Given the description of an element on the screen output the (x, y) to click on. 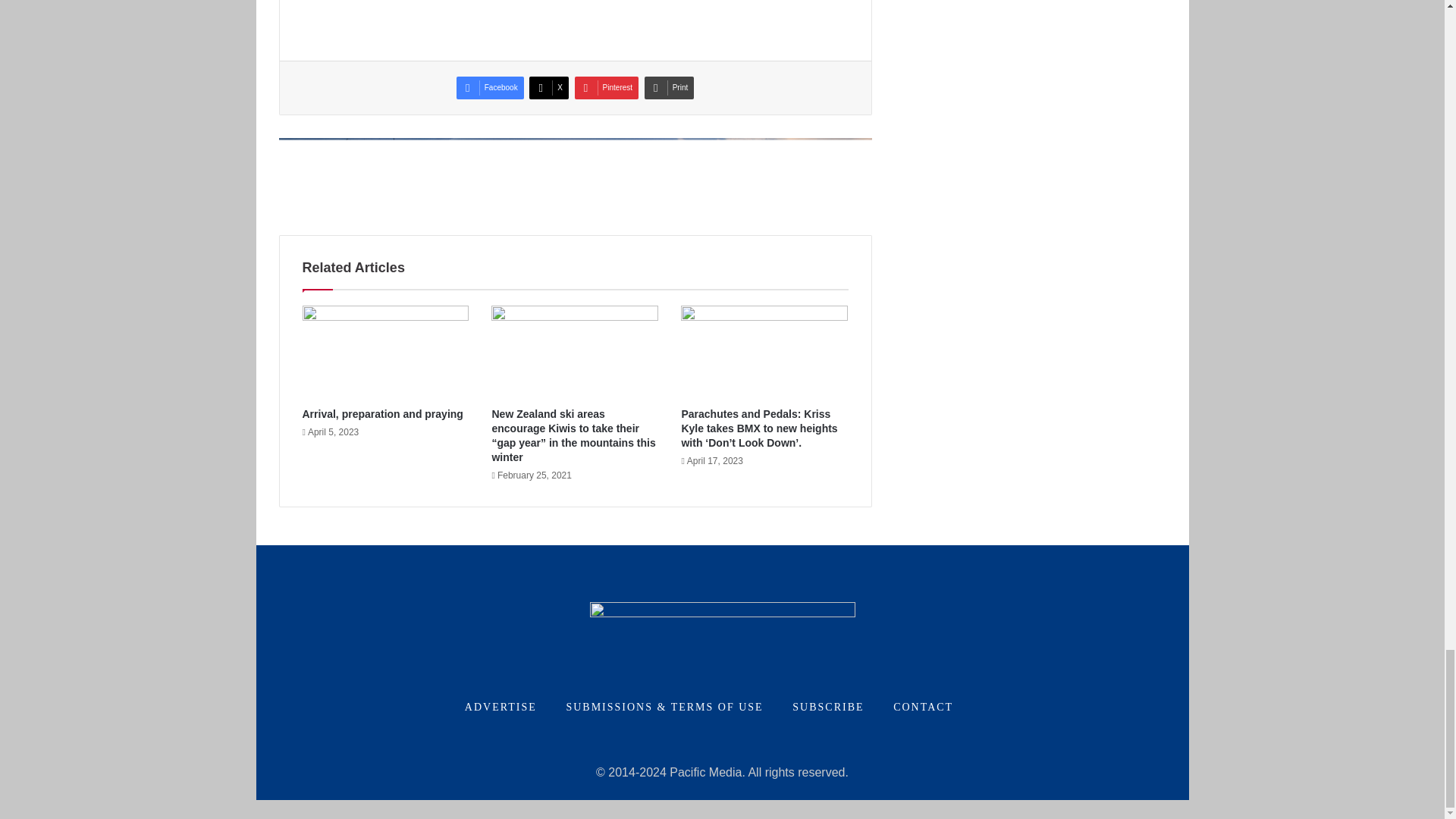
Pinterest (607, 87)
X (549, 87)
Facebook (490, 87)
Print (669, 87)
